Given the description of an element on the screen output the (x, y) to click on. 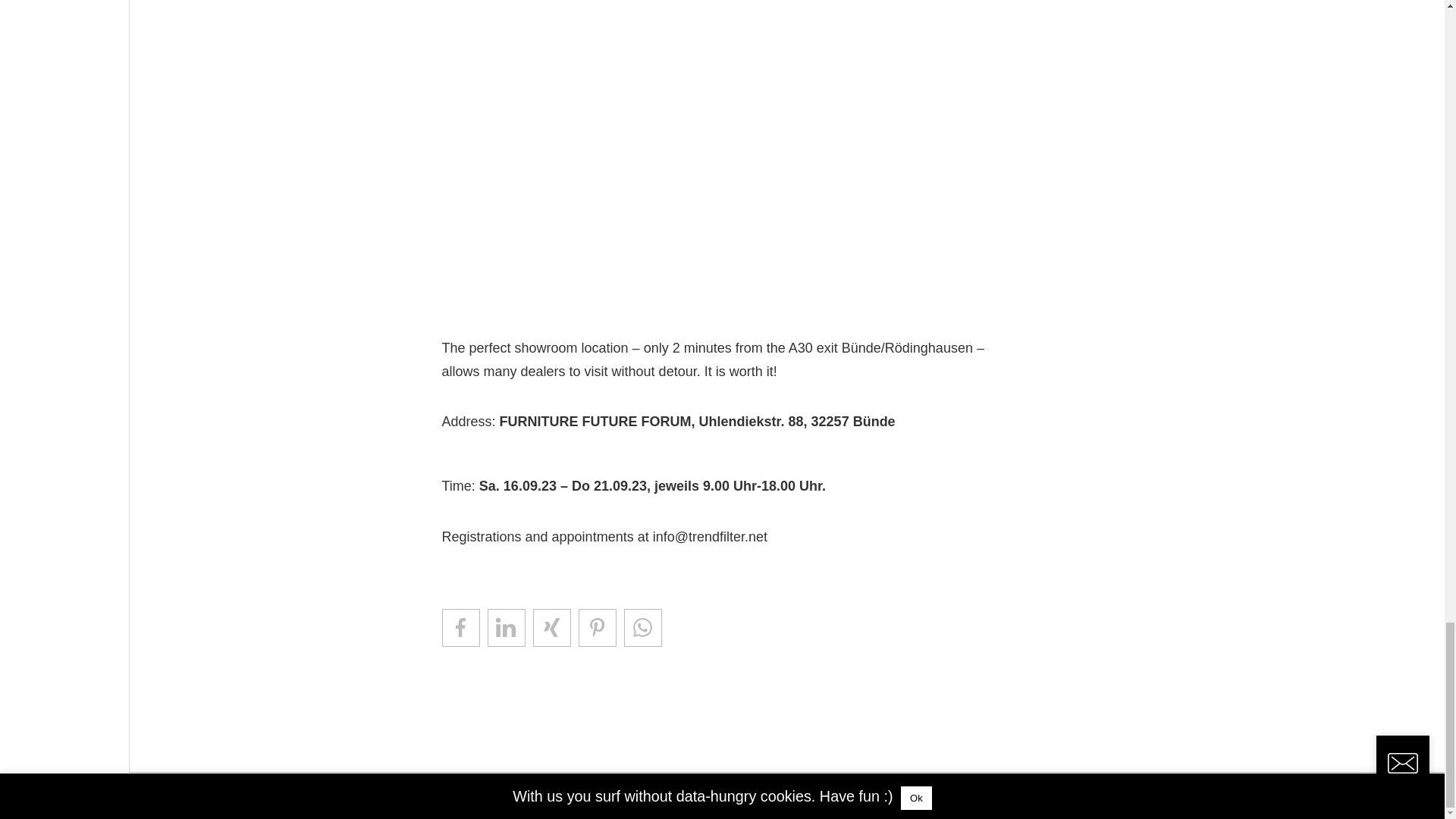
contact (1038, 795)
privacy policy (1176, 795)
levelzwo (512, 793)
imprint (1097, 795)
